Given the description of an element on the screen output the (x, y) to click on. 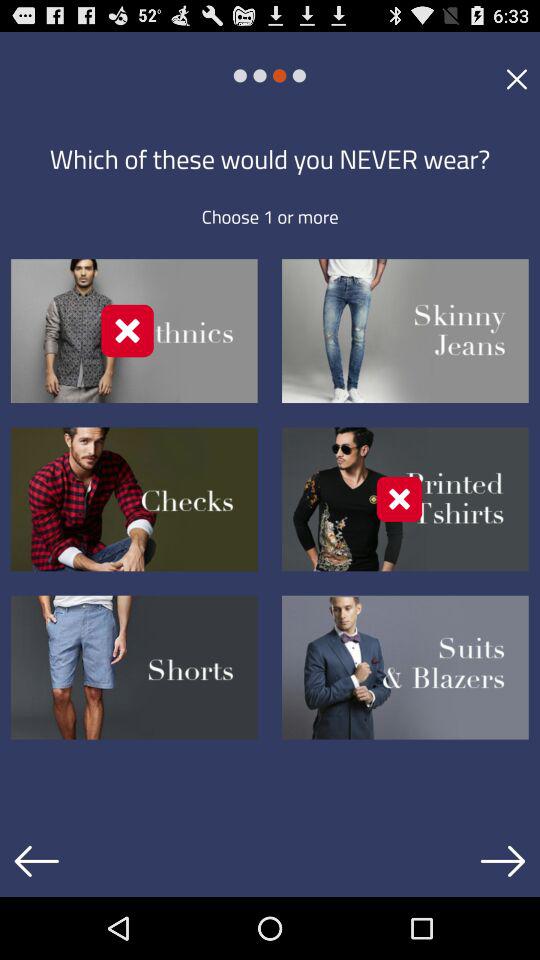
close the page (516, 78)
